Given the description of an element on the screen output the (x, y) to click on. 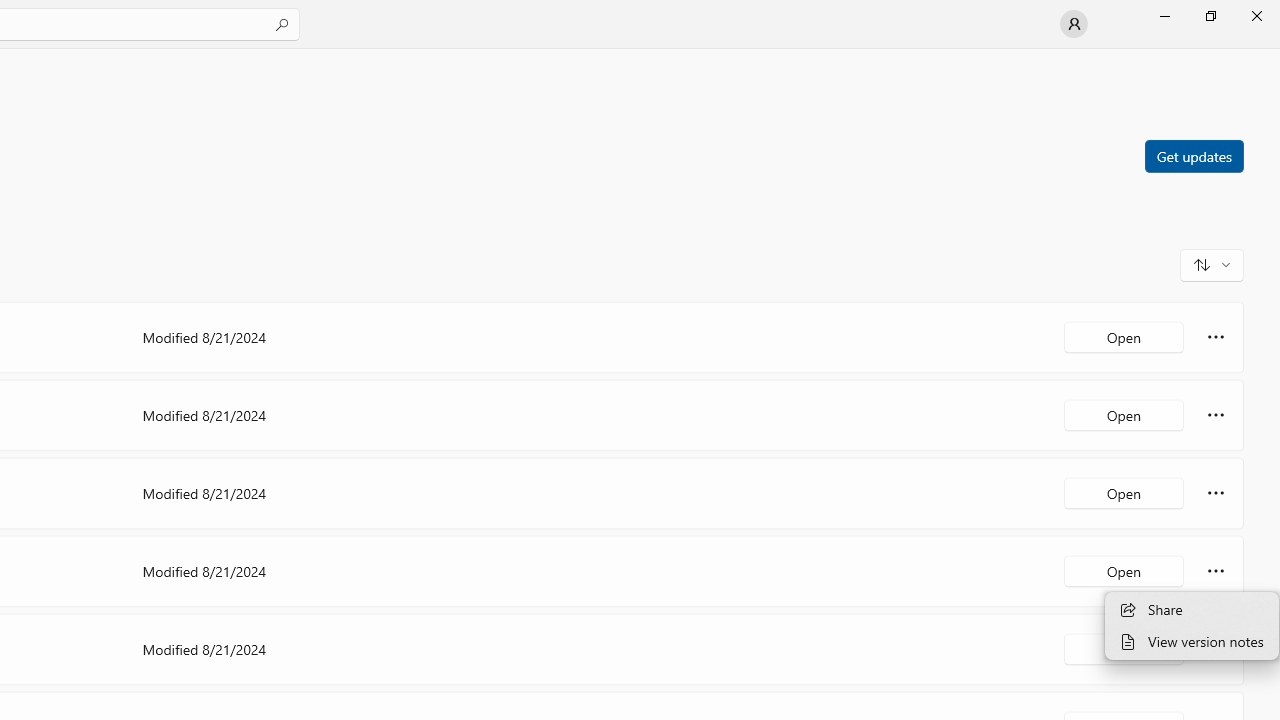
Open (1123, 648)
Get updates (1193, 155)
Sort and filter (1212, 263)
More options (1215, 648)
